Given the description of an element on the screen output the (x, y) to click on. 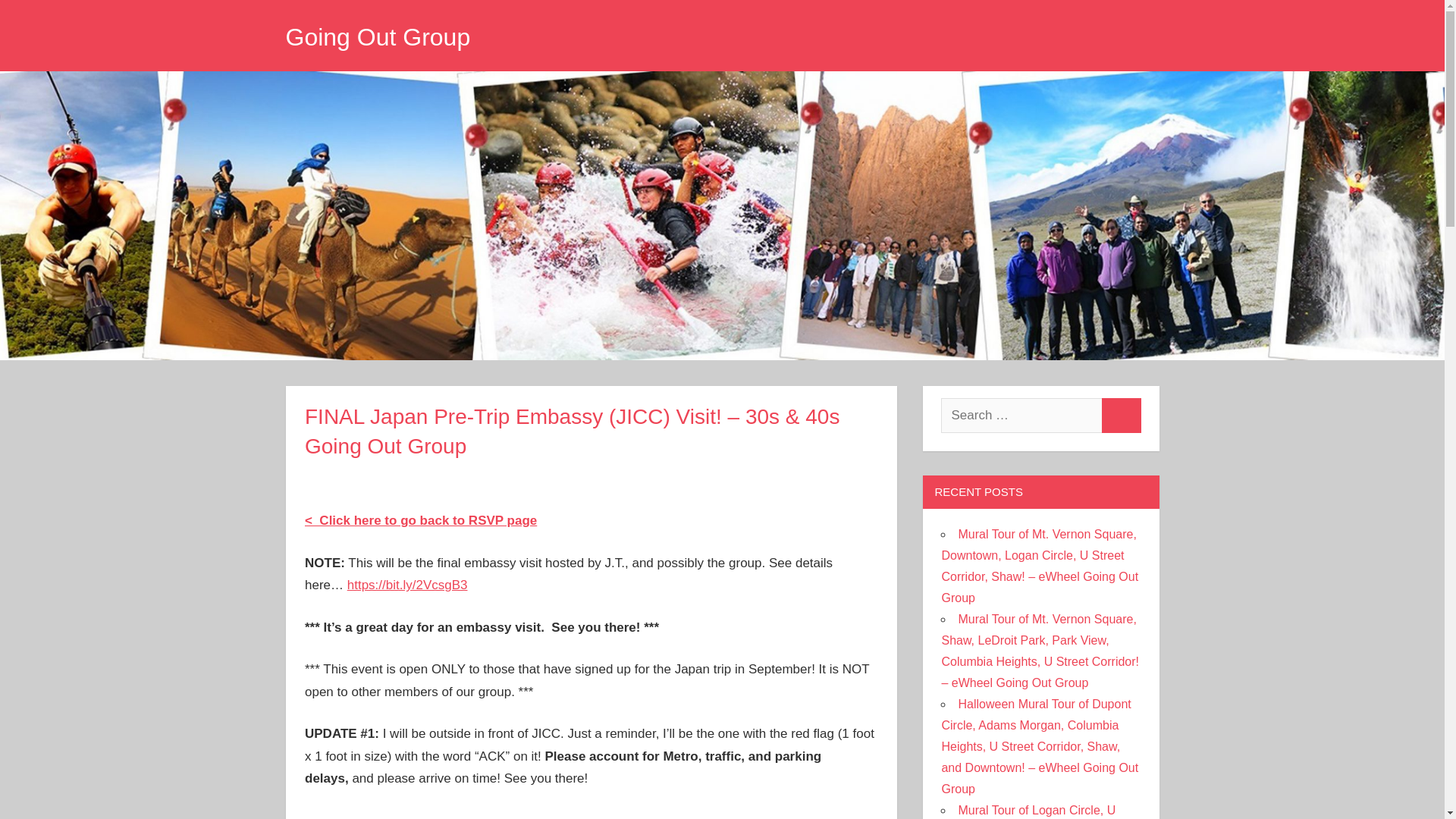
Going Out Group (377, 36)
Search for: (1021, 415)
Search (1121, 415)
